Given the description of an element on the screen output the (x, y) to click on. 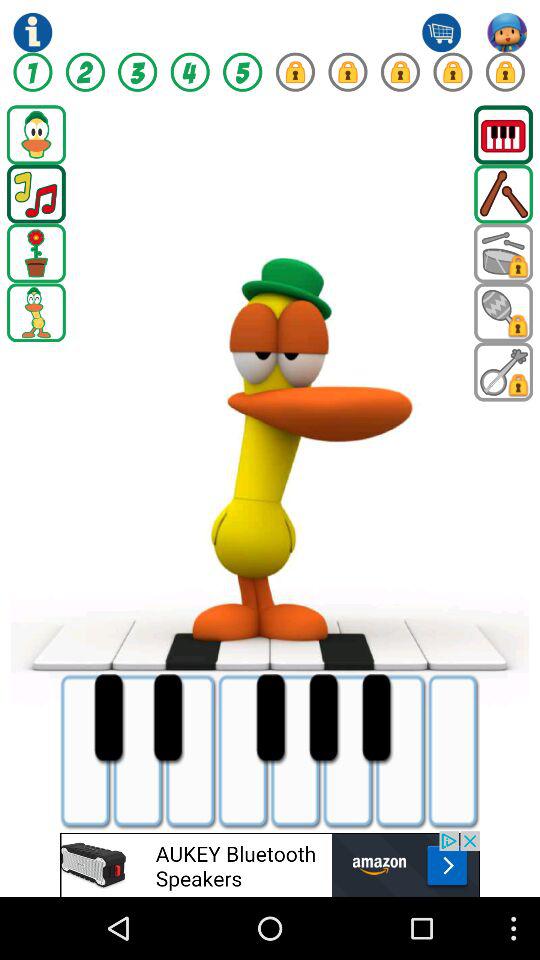
level 1 button (32, 71)
